Given the description of an element on the screen output the (x, y) to click on. 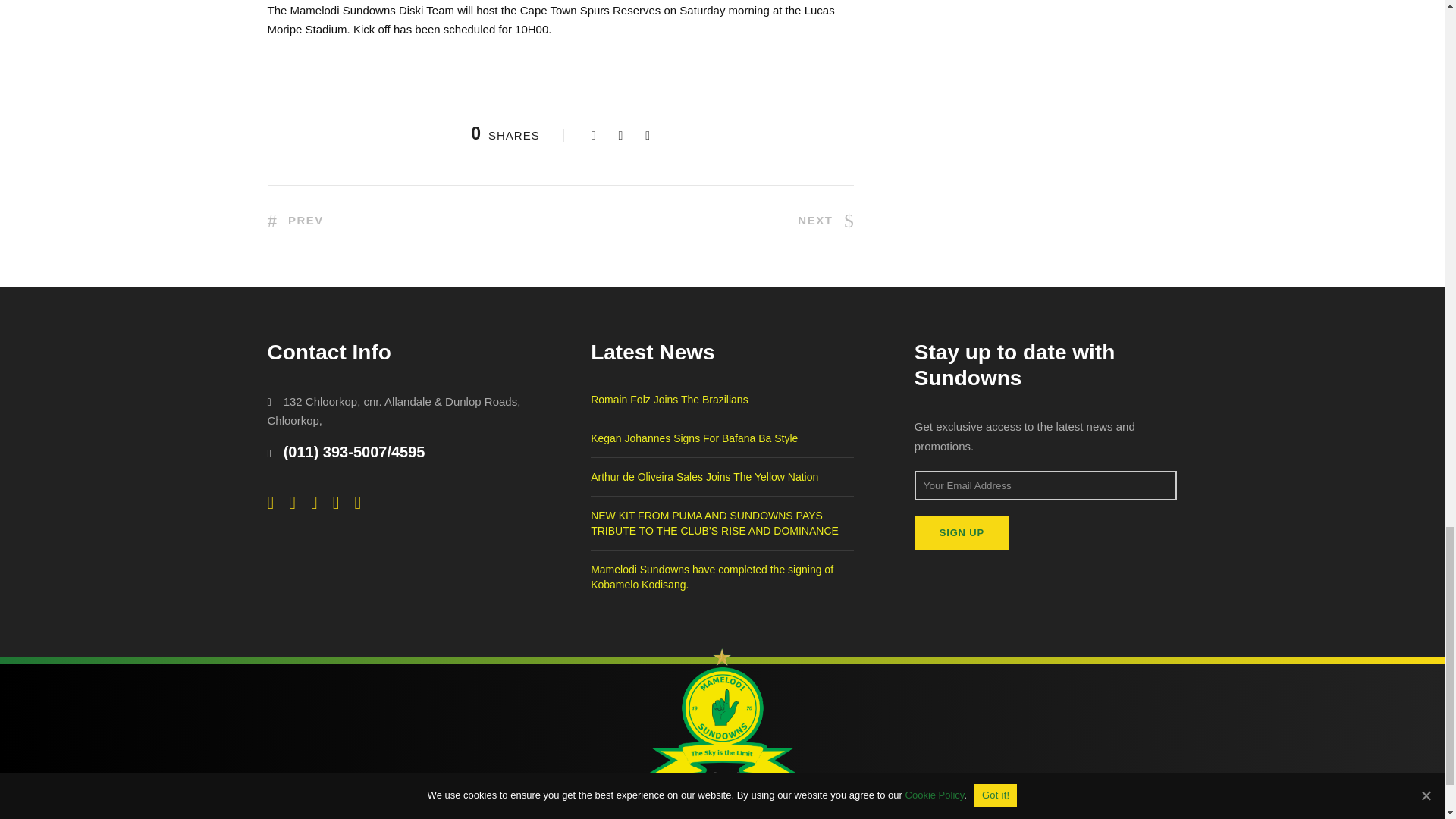
Sign up (961, 532)
